Given the description of an element on the screen output the (x, y) to click on. 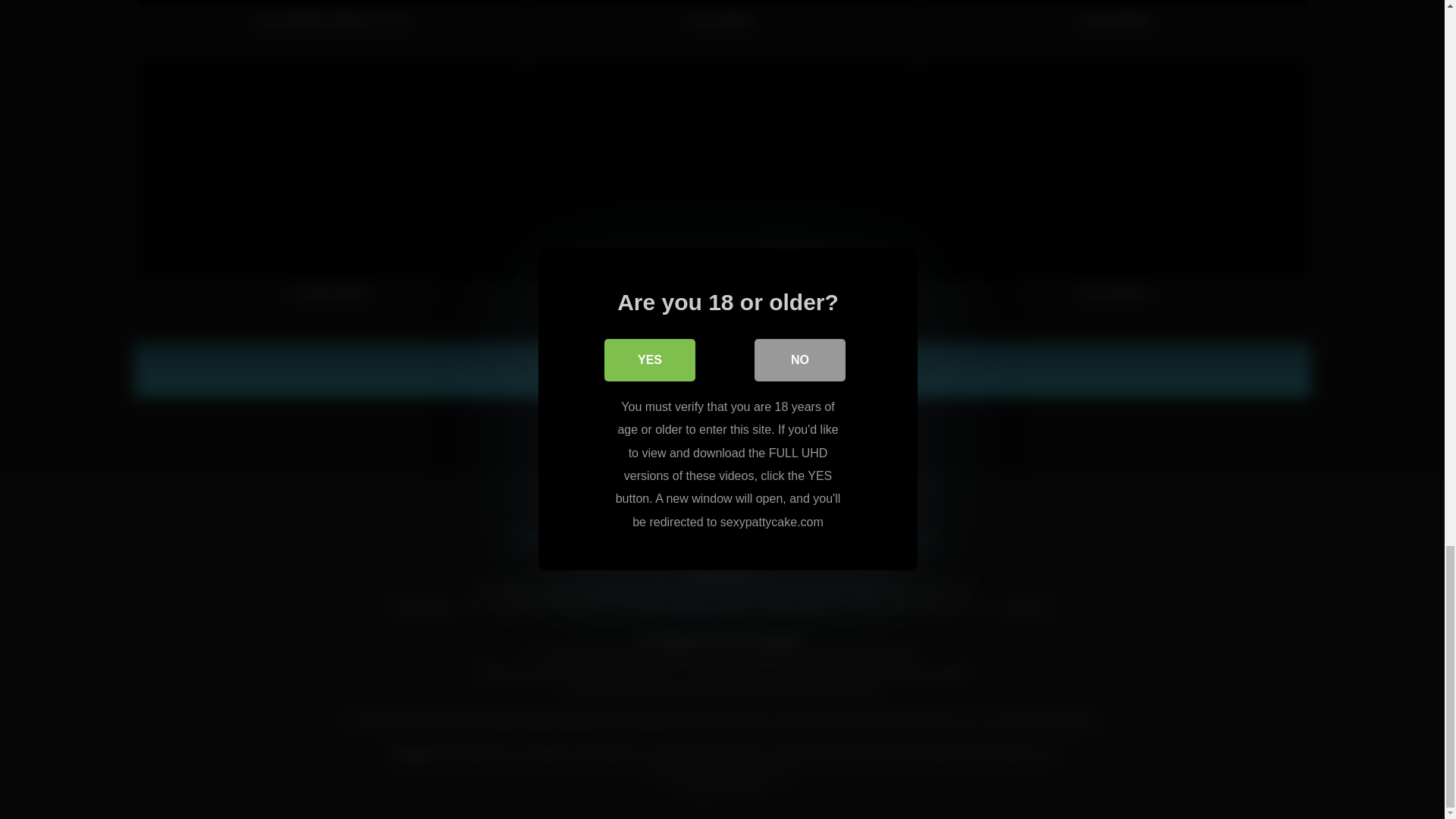
Home (534, 538)
2257 (840, 538)
Up-Skirt Shoots (330, 188)
Terms and Conditions (740, 538)
Sitemap (903, 538)
Candy Stripper (1113, 21)
Privacy Policy (615, 538)
Show more videos (721, 370)
read this page (978, 720)
Candy Stripper (1113, 21)
Sexy Shower (721, 21)
Sexy Waitress (1113, 188)
Tit Flashing (721, 188)
Sexy Waitress (1113, 188)
Sexy Shower (721, 21)
